Given the description of an element on the screen output the (x, y) to click on. 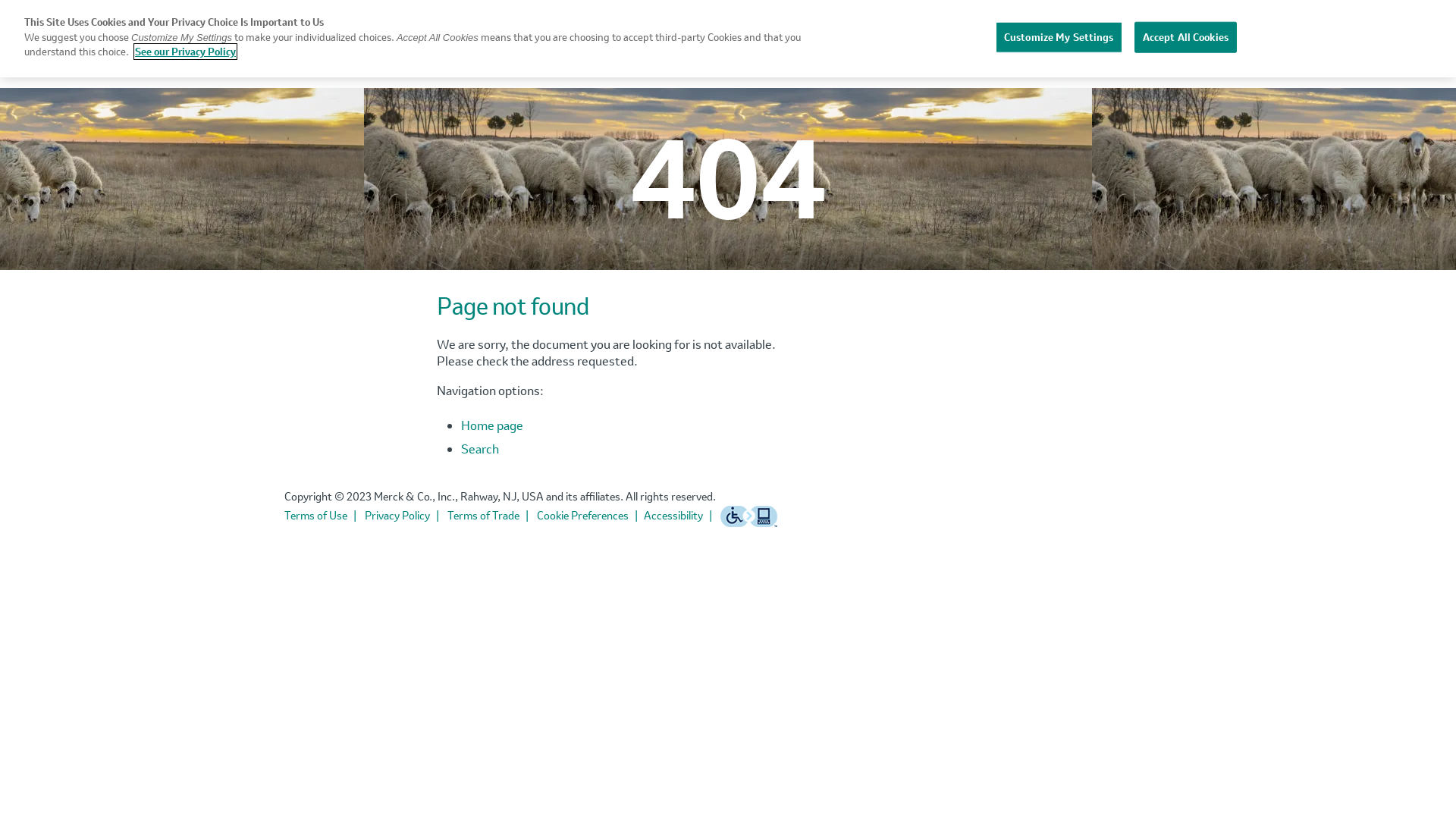
SPECIES Element type: text (817, 45)
Accessibility Element type: text (680, 515)
CONTACT US Element type: text (1118, 45)
Cookie Preferences Element type: text (589, 515)
Search Element type: text (479, 448)
ABOUT US Element type: text (723, 45)
Customize My Settings Element type: text (1058, 37)
See our Privacy Policy Element type: text (184, 51)
Privacy Policy Element type: text (404, 515)
Terms of Use Element type: text (323, 515)
Accept All Cookies Element type: text (1185, 37)
Home page Element type: text (492, 425)
Terms of Trade Element type: text (490, 515)
TOOLS AND RESOURCES Element type: text (962, 45)
